Given the description of an element on the screen output the (x, y) to click on. 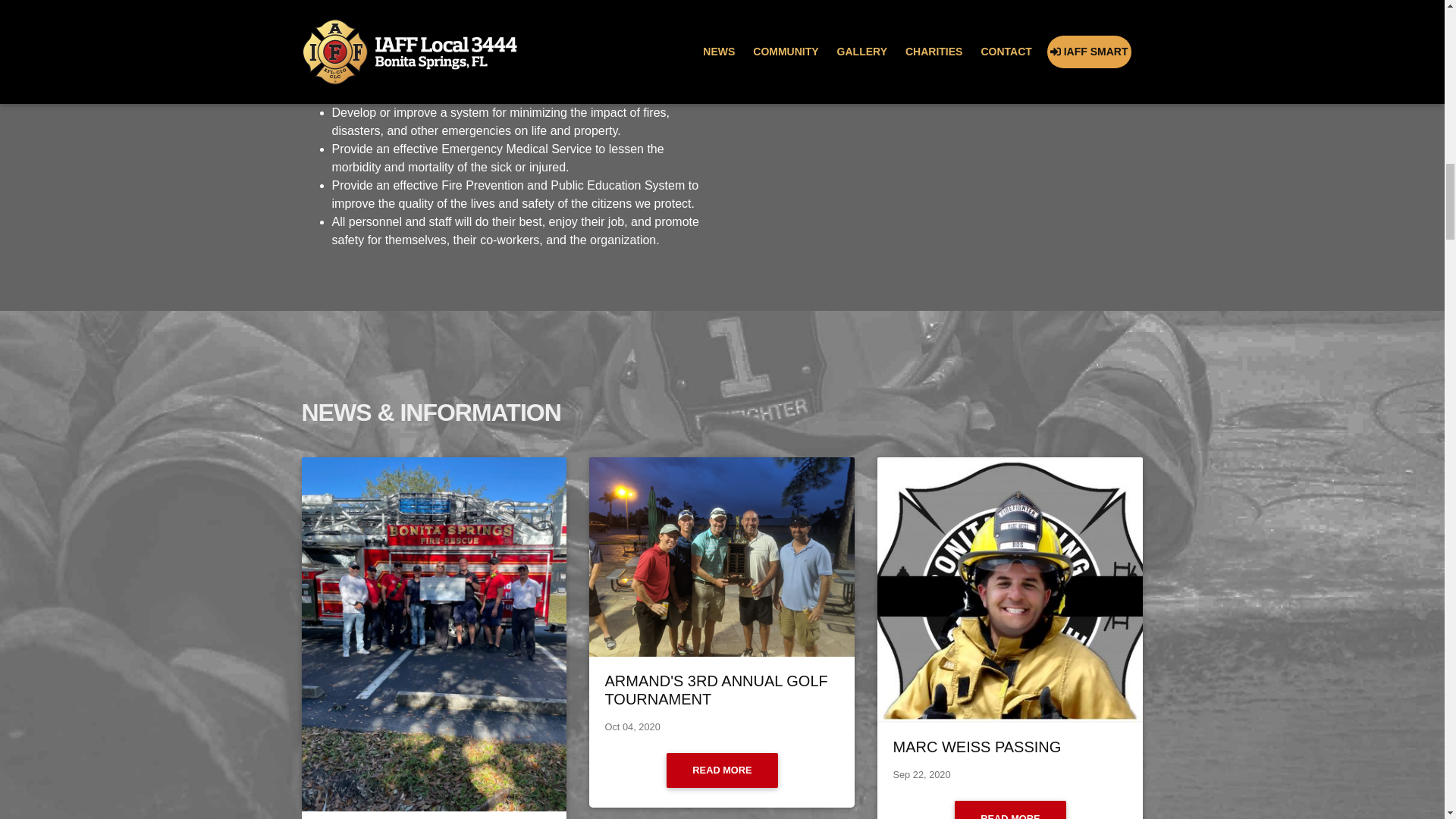
READ MORE (721, 769)
READ MORE (1010, 809)
